Given the description of an element on the screen output the (x, y) to click on. 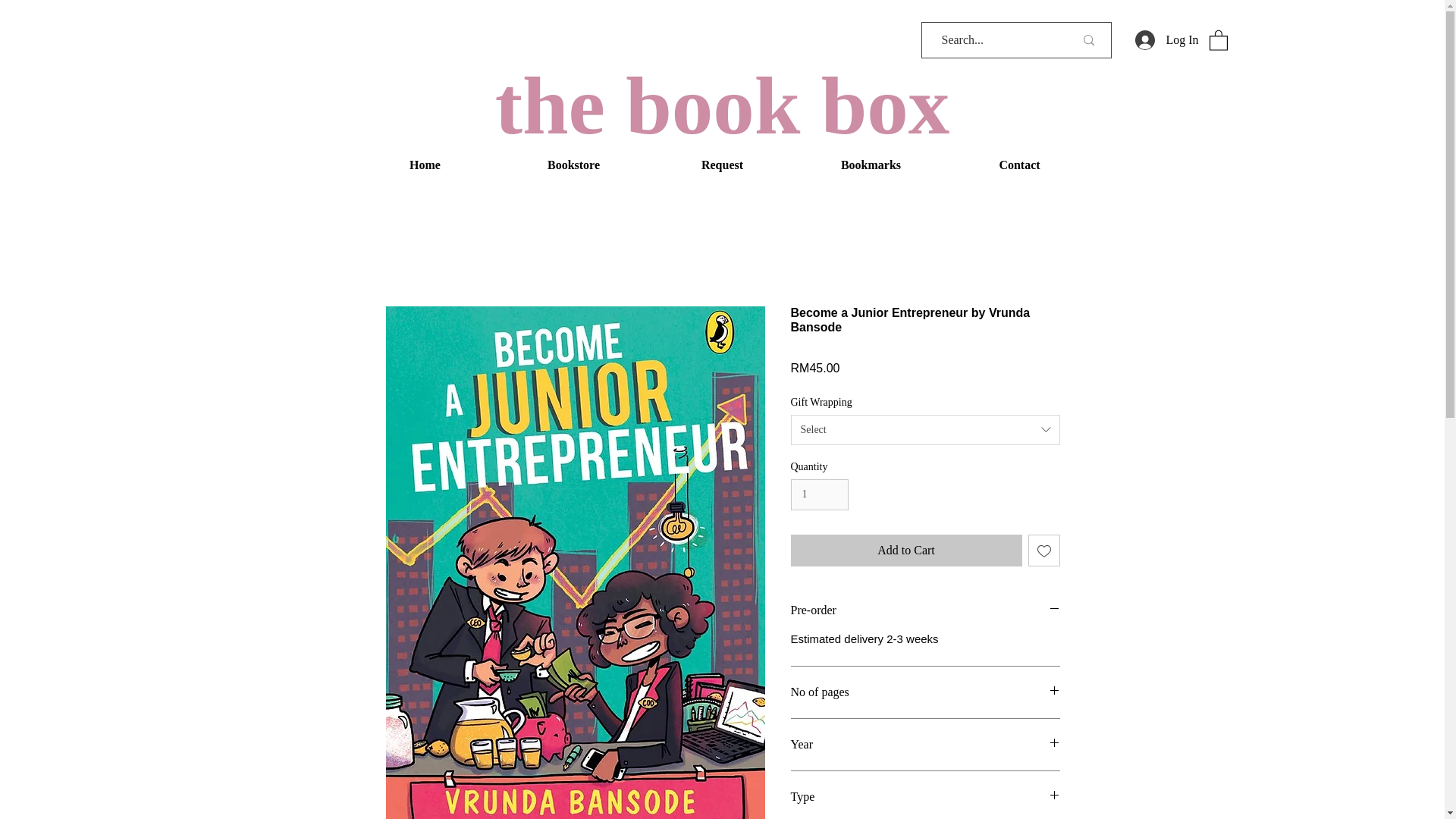
Log In (1166, 39)
Bookstore (573, 164)
Home (424, 164)
Add to Cart (906, 550)
1 (818, 494)
Request (721, 164)
Contact (1018, 164)
Select (924, 429)
No of pages (924, 692)
Pre-order (924, 610)
Type (924, 796)
Bookmarks (870, 164)
Year (924, 744)
